Given the description of an element on the screen output the (x, y) to click on. 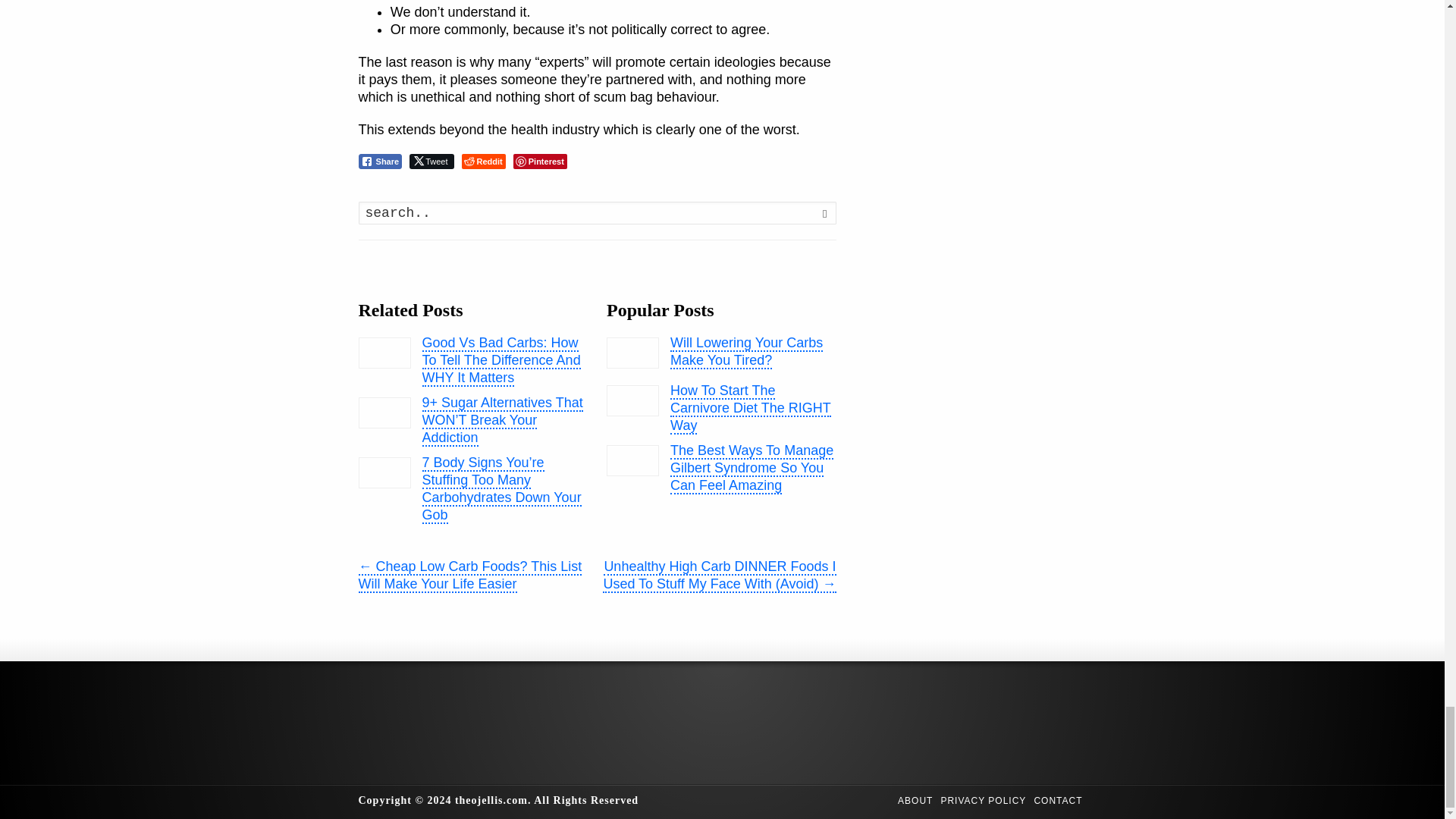
Will Lowering Your Carbs Make You Tired? (745, 351)
Will Lowering Your Carbs Make You Tired? (633, 352)
Pinterest (540, 160)
Tweet (430, 160)
How To Start The Carnivore Diet The RIGHT Way (632, 400)
Will Lowering Your Carbs Make You Tired? (632, 352)
Reddit (483, 160)
